Given the description of an element on the screen output the (x, y) to click on. 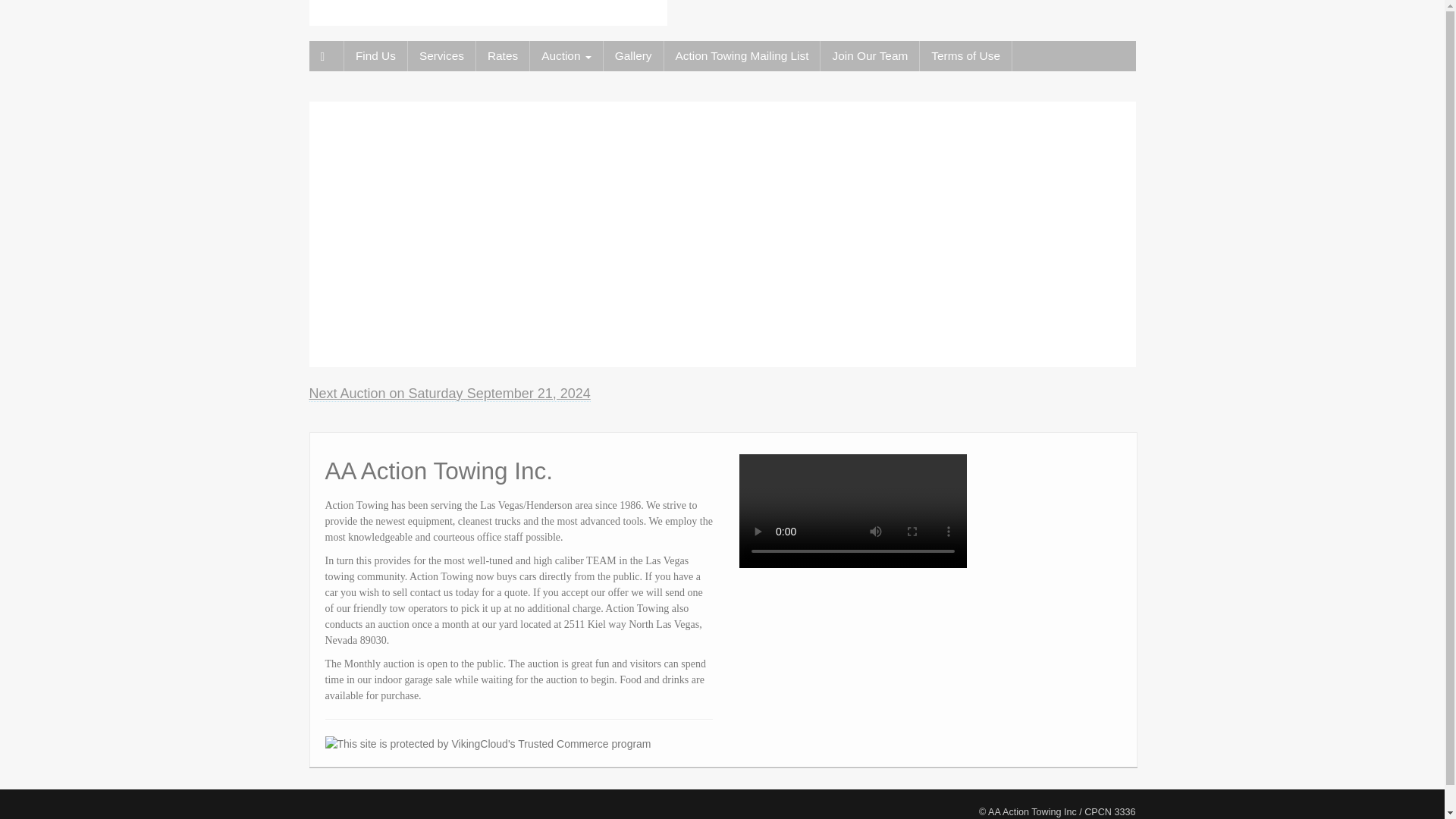
Gallery (633, 55)
Terms of Use (965, 55)
Find Us (375, 55)
Action Towing Mailing List (742, 55)
Services (441, 55)
Auction (565, 55)
Join Our Team (869, 55)
Next Auction on Saturday September 21, 2024 (449, 393)
Rates (502, 55)
